Given the description of an element on the screen output the (x, y) to click on. 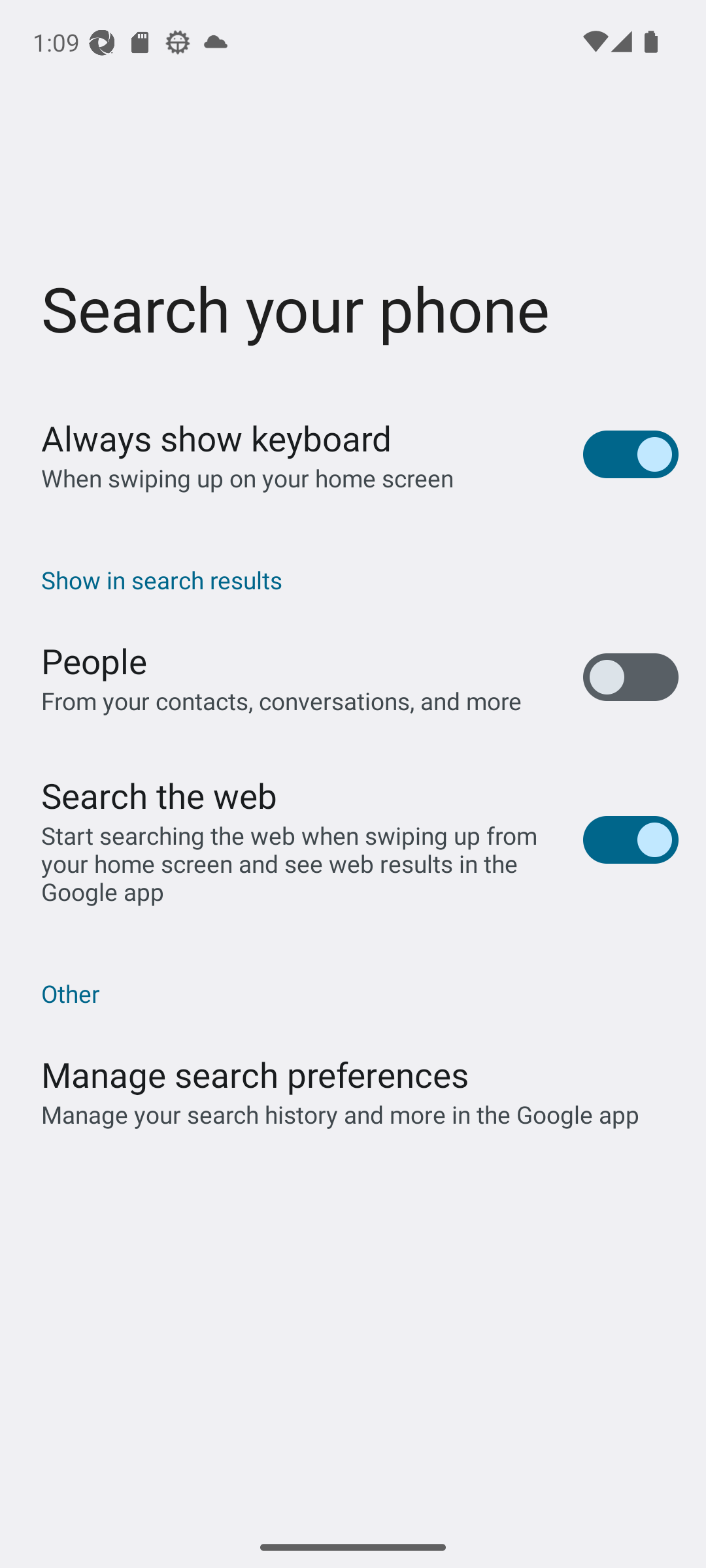
People From your contacts, conversations, and more (353, 676)
